Given the description of an element on the screen output the (x, y) to click on. 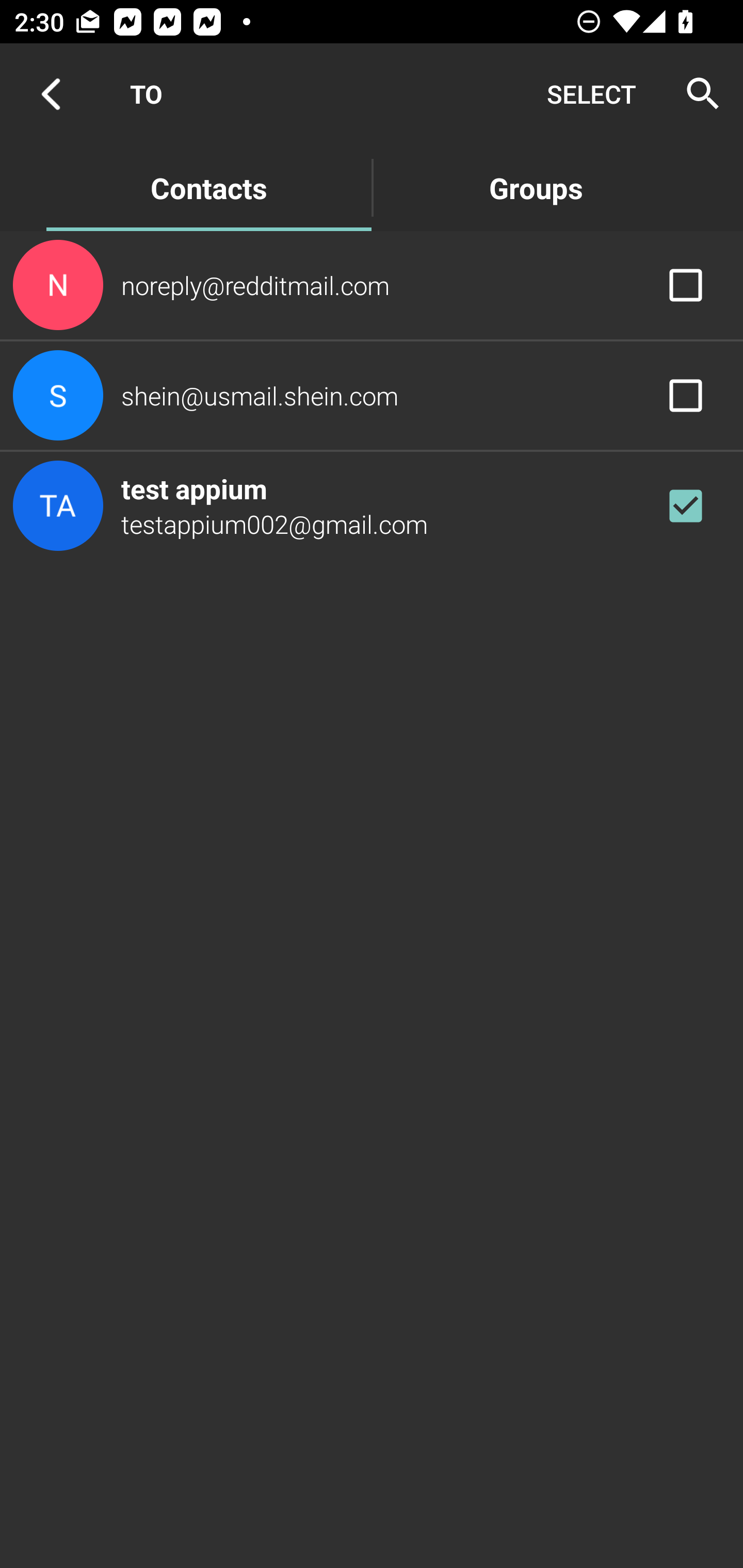
Navigate up (50, 93)
SELECT (590, 93)
Search (696, 93)
Contacts (208, 187)
Groups (535, 187)
noreply@redditmail.com (371, 284)
shein@usmail.shein.com (371, 395)
test appium testappium002@gmail.com (371, 505)
